Given the description of an element on the screen output the (x, y) to click on. 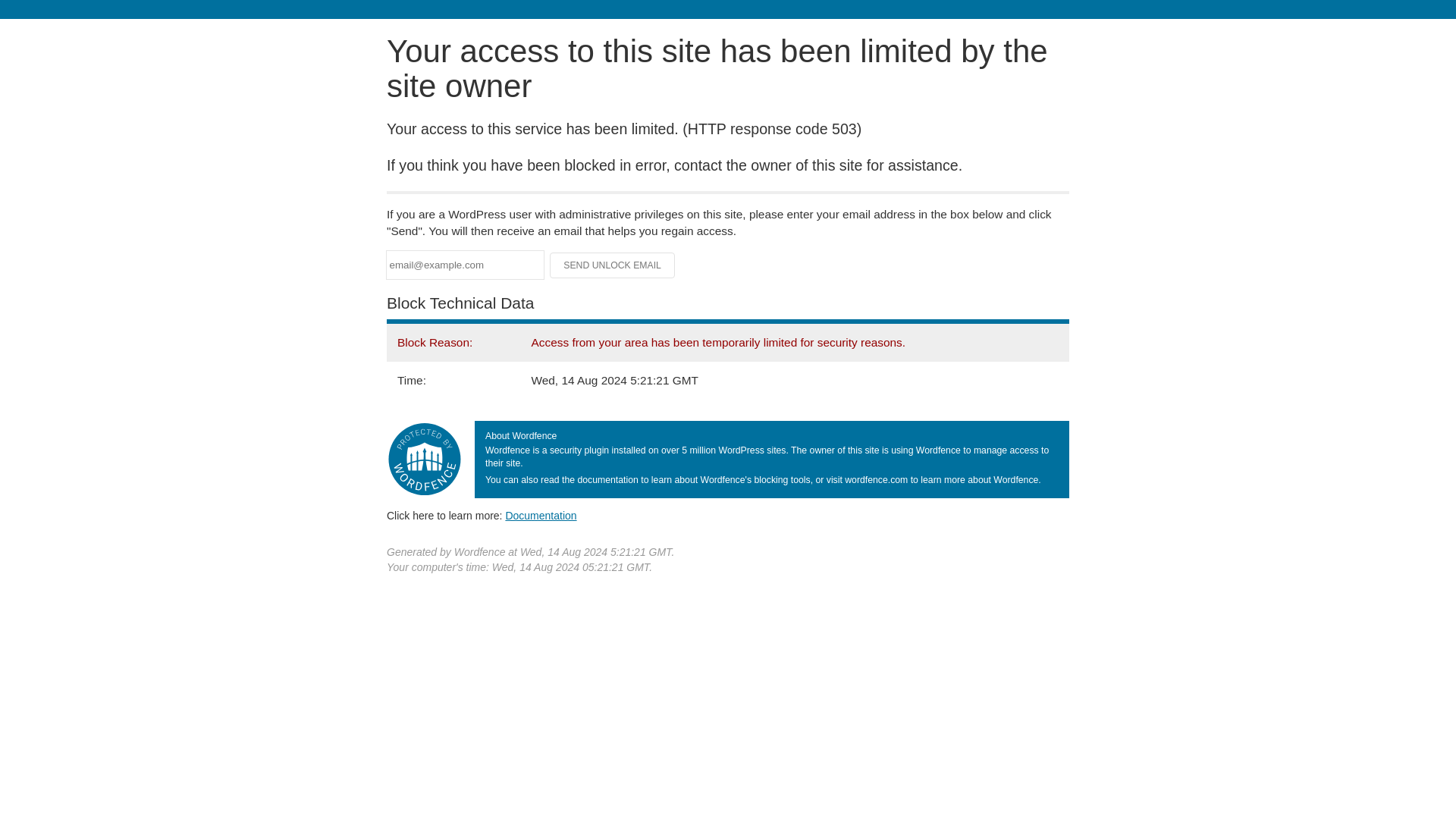
Send Unlock Email (612, 265)
Documentation (540, 515)
Send Unlock Email (612, 265)
